Given the description of an element on the screen output the (x, y) to click on. 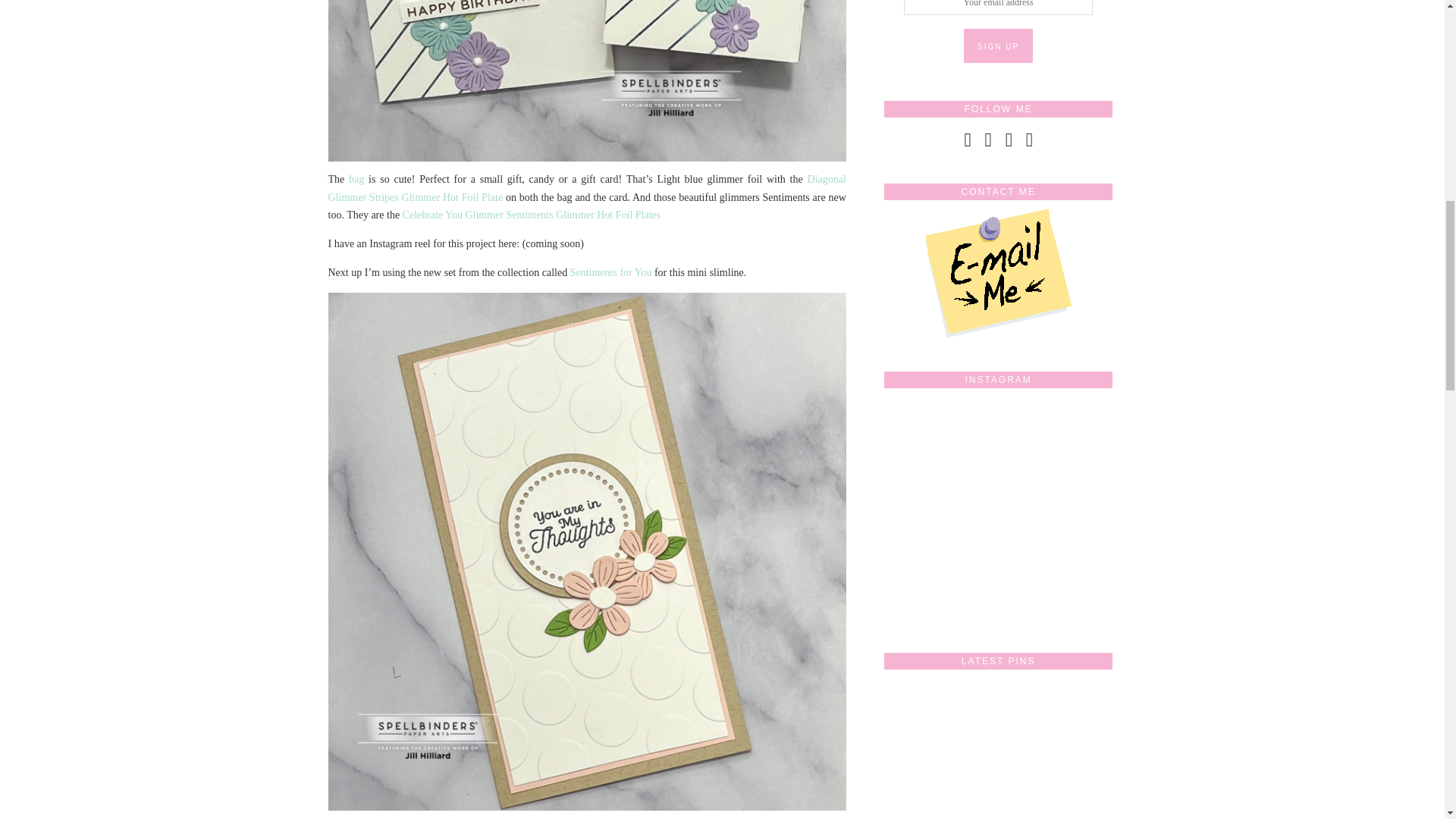
Celebrate You Glimmer Sentiments Glimmer Hot Foil Plates (532, 214)
Sign up (997, 45)
Sentiments for You (611, 272)
bag (356, 179)
Diagonal Glimmer Stripes Glimmer Hot Foil Plate (586, 188)
